Given the description of an element on the screen output the (x, y) to click on. 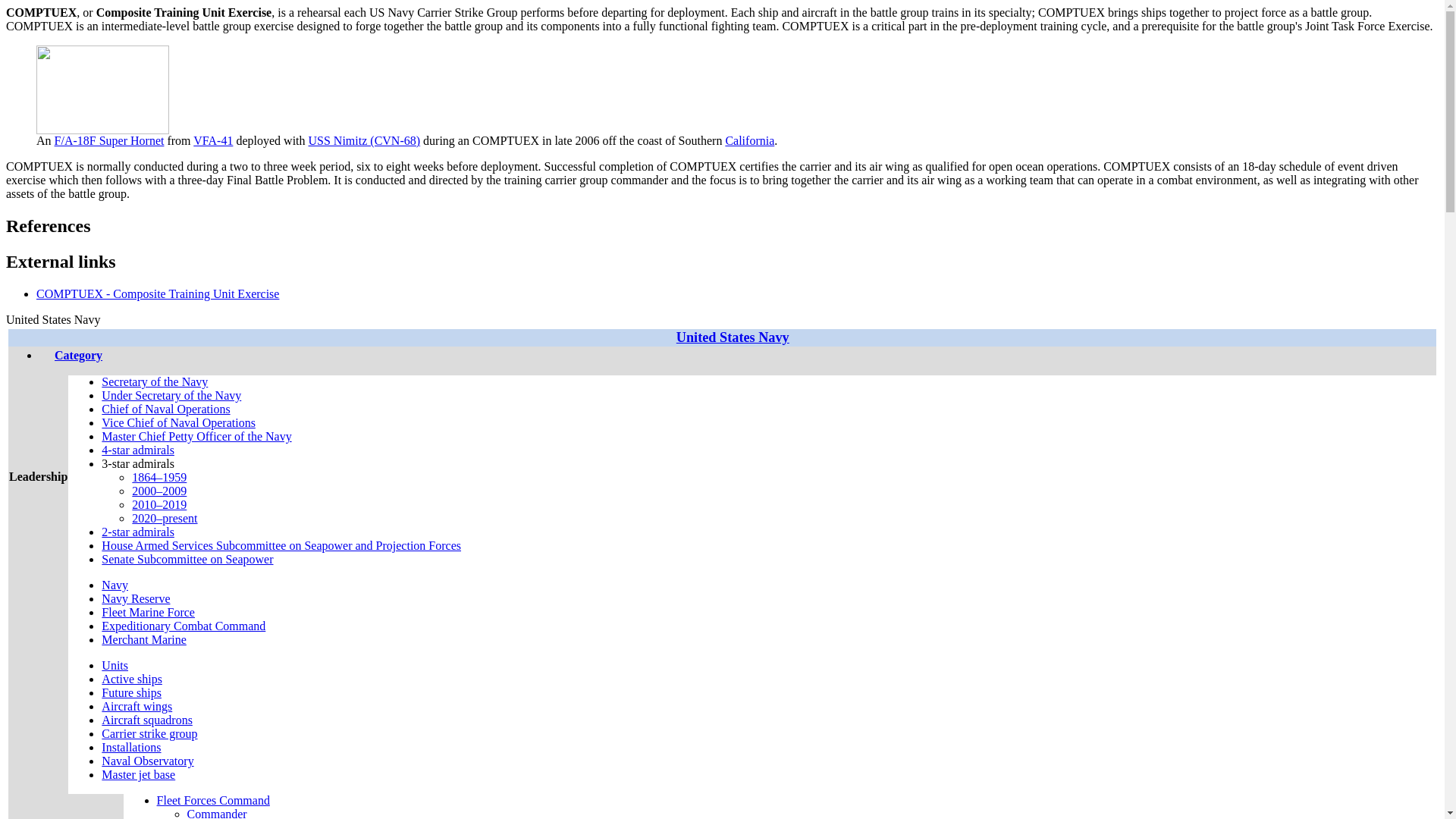
Chief of Naval Operations (165, 408)
California (749, 140)
United States Navy (733, 337)
Aircraft wings (136, 706)
Category (44, 354)
Chief of Naval Operations (165, 408)
Vice Chief of Naval Operations (178, 422)
Category:United States Navy (78, 354)
Under Secretary of the Navy (171, 395)
Master Chief Petty Officer of the Navy (196, 436)
